Given the description of an element on the screen output the (x, y) to click on. 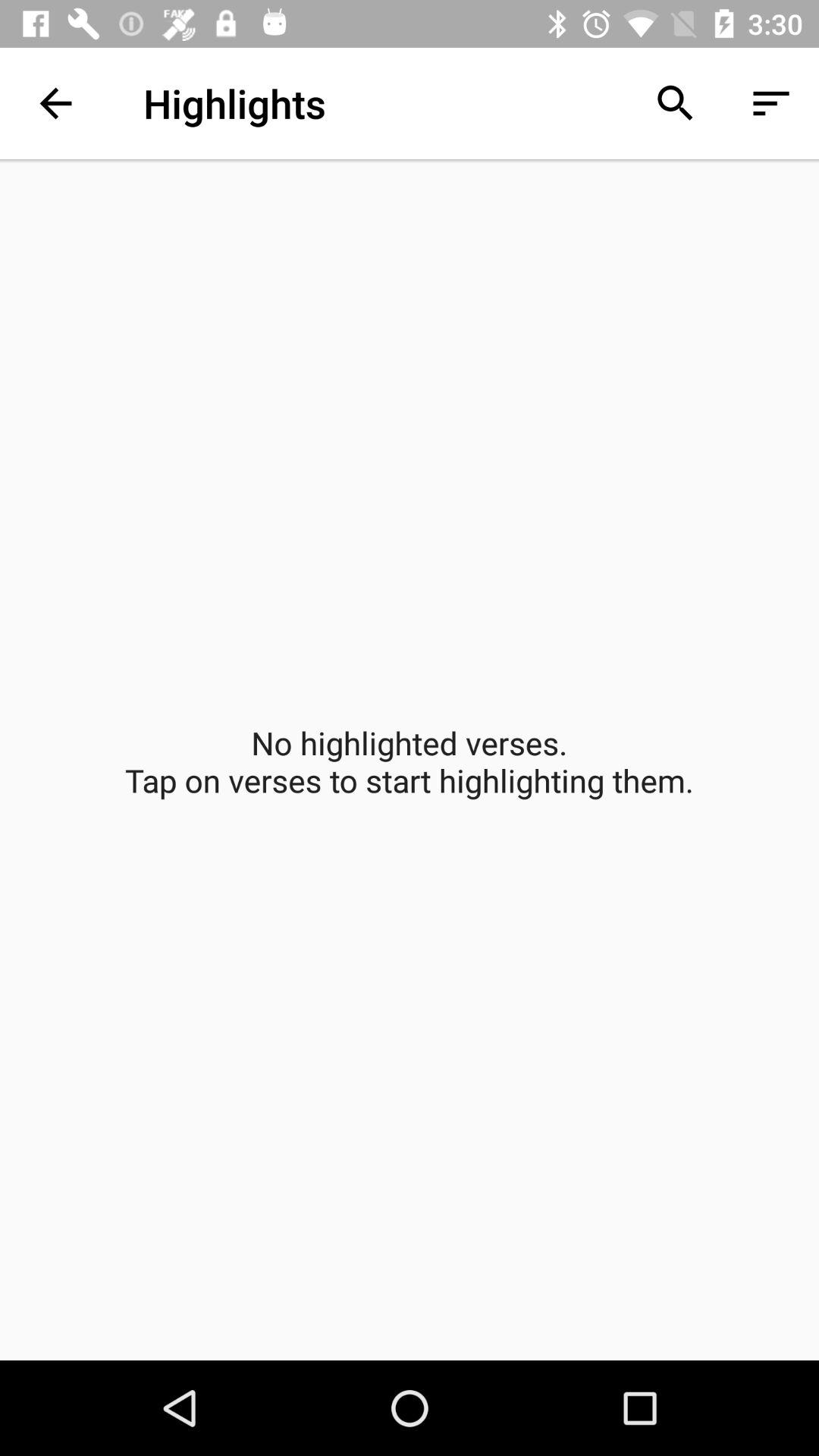
launch the app next to highlights item (675, 103)
